Given the description of an element on the screen output the (x, y) to click on. 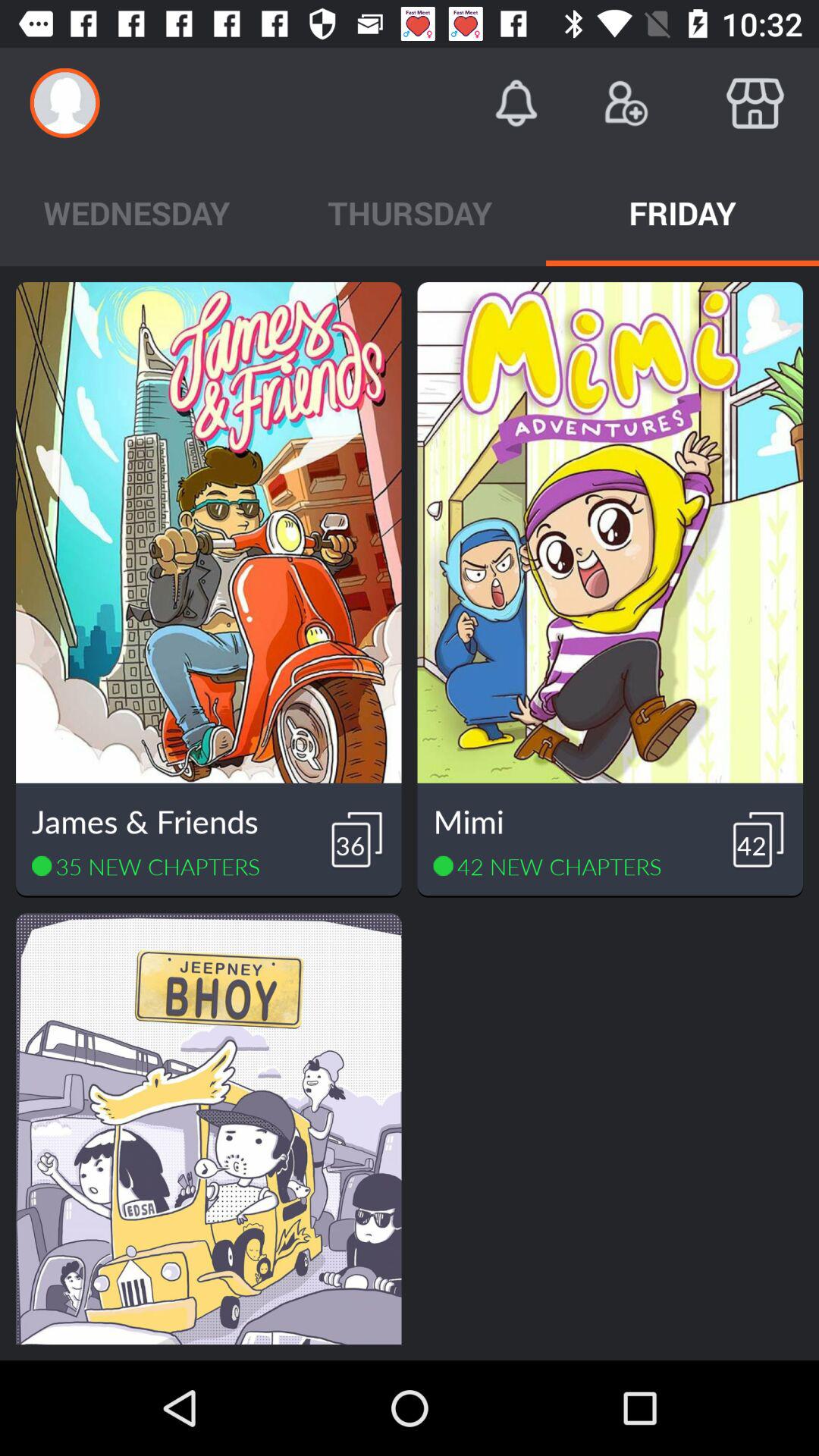
scroll until friday (682, 212)
